Given the description of an element on the screen output the (x, y) to click on. 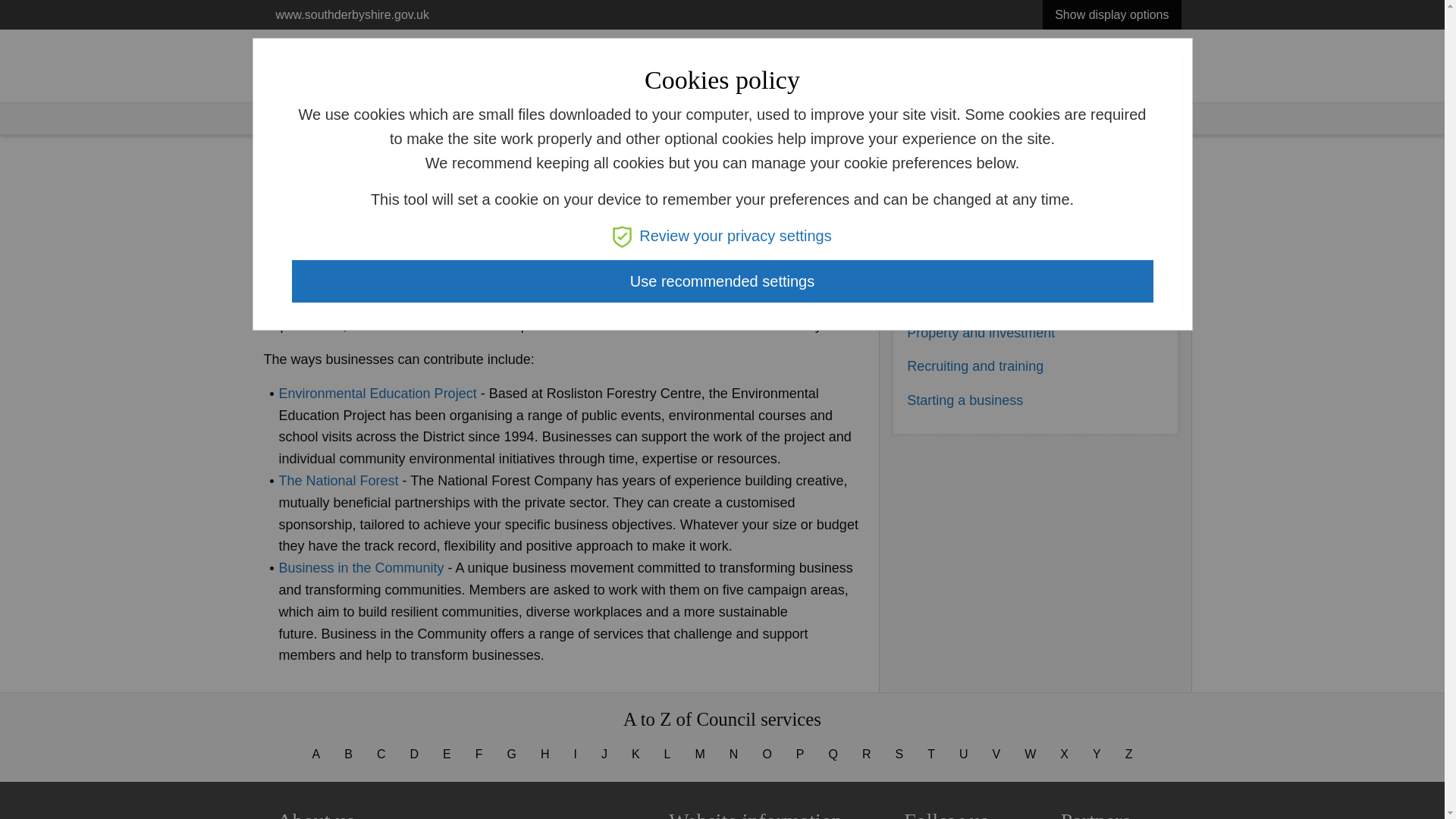
Link to home page (330, 59)
Environmental Education Project (378, 393)
Our services (358, 116)
Business in the Community (361, 567)
Business and investment (484, 116)
The National Forest (338, 480)
Employment and skills (974, 264)
Our services (1074, 75)
Finance and advice (966, 196)
Business news and events (987, 230)
Home (277, 116)
addresssearch (838, 75)
Property and investment (980, 332)
Recruiting and training (975, 365)
External link to The National Forest website (338, 480)
